Given the description of an element on the screen output the (x, y) to click on. 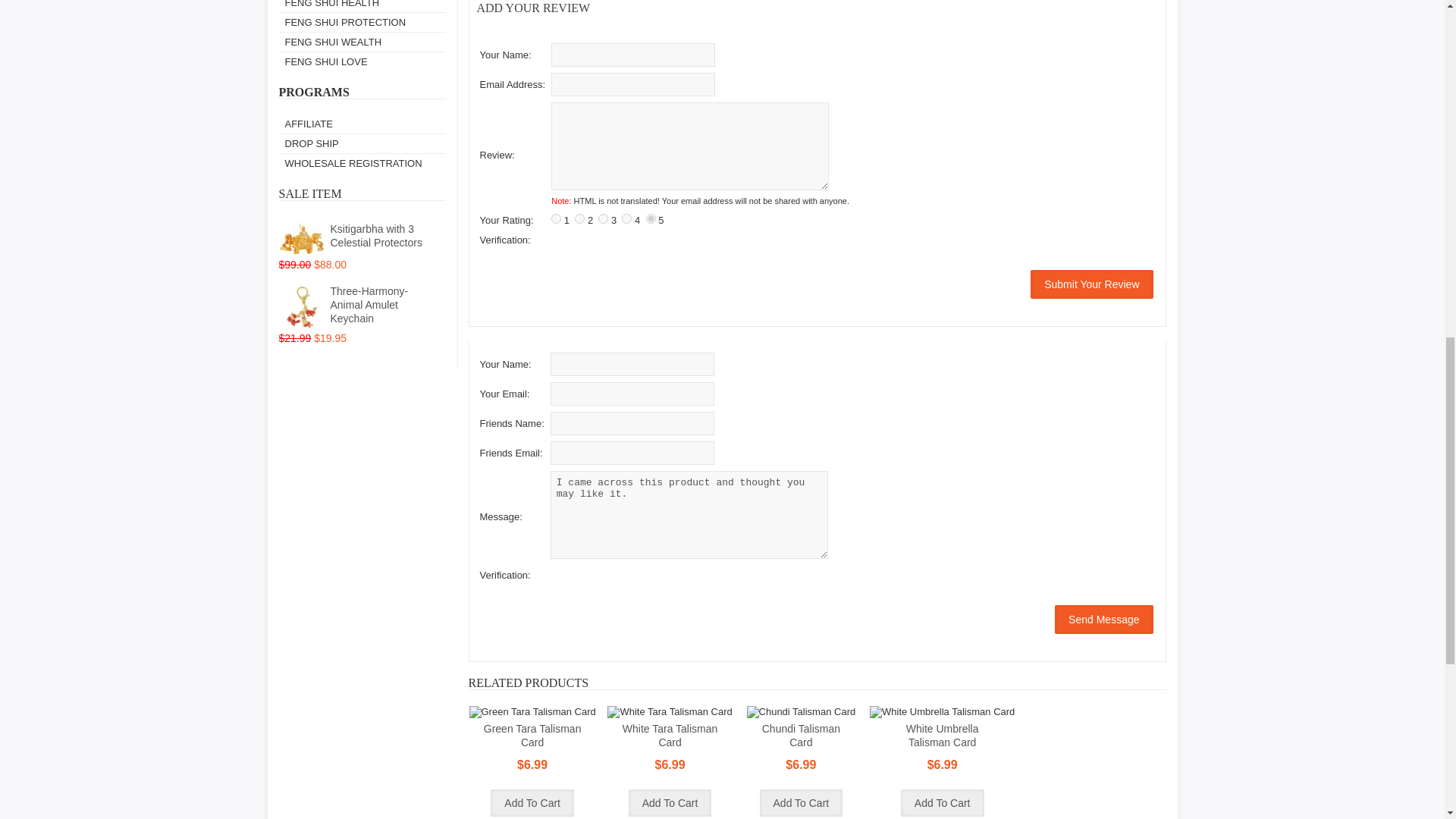
5 (651, 218)
2 (580, 218)
Add To Cart (801, 802)
Add To Cart (531, 802)
1 (555, 218)
Three-Harmony-Animal Amulet Keychain (301, 307)
3 (603, 218)
Ksitigarbha with 3 Celestial Protectors (301, 238)
4 (626, 218)
Add To Cart (669, 802)
